Given the description of an element on the screen output the (x, y) to click on. 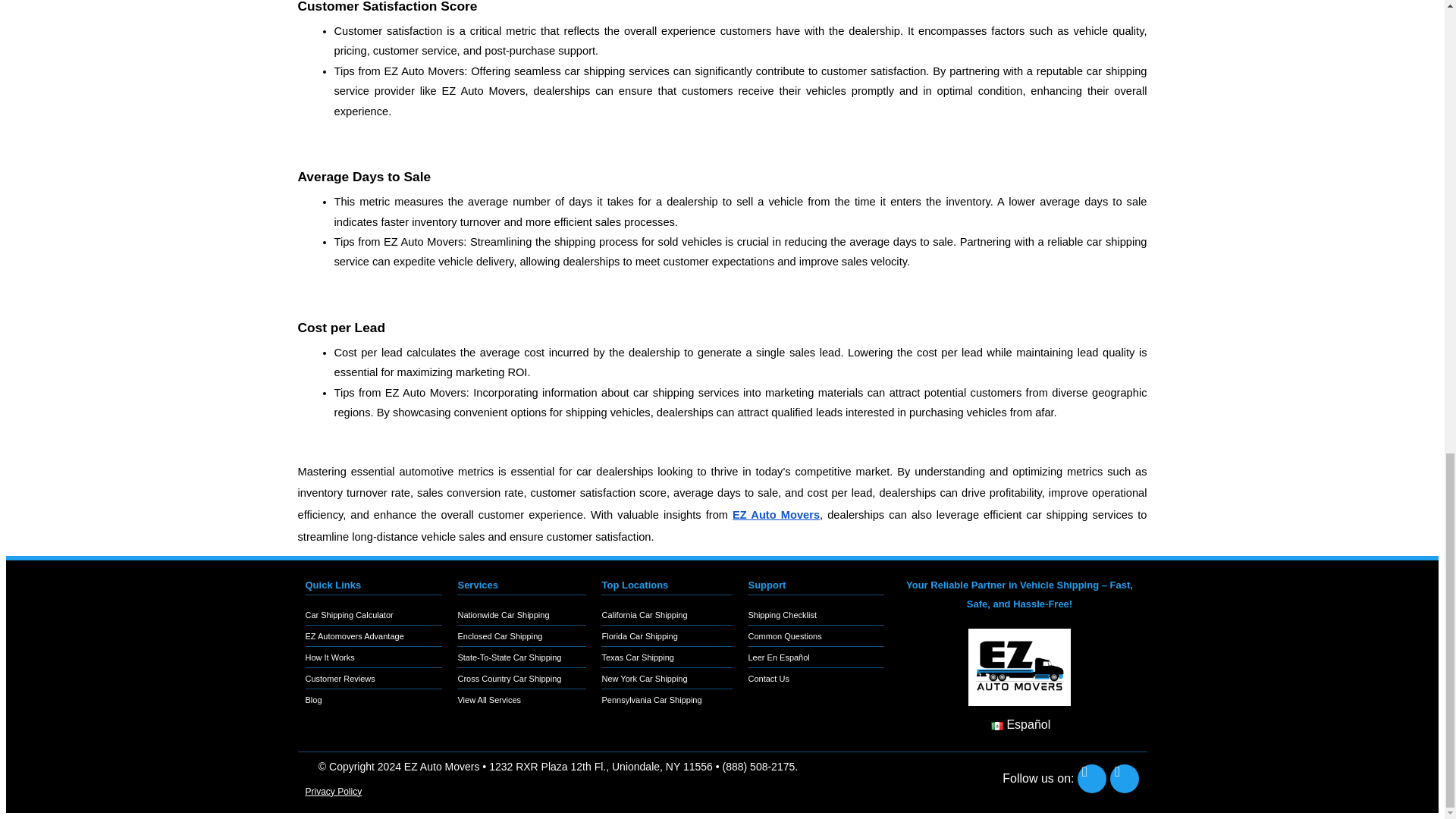
How It Works (373, 656)
State-To-State Car Shipping (521, 656)
EZ Auto Movers (775, 513)
Customer Reviews (373, 678)
EZ Automovers Advantage (373, 635)
Nationwide Car Shipping (521, 614)
Enclosed Car Shipping (521, 635)
Car Shipping Calculator (373, 614)
Blog (373, 699)
